Given the description of an element on the screen output the (x, y) to click on. 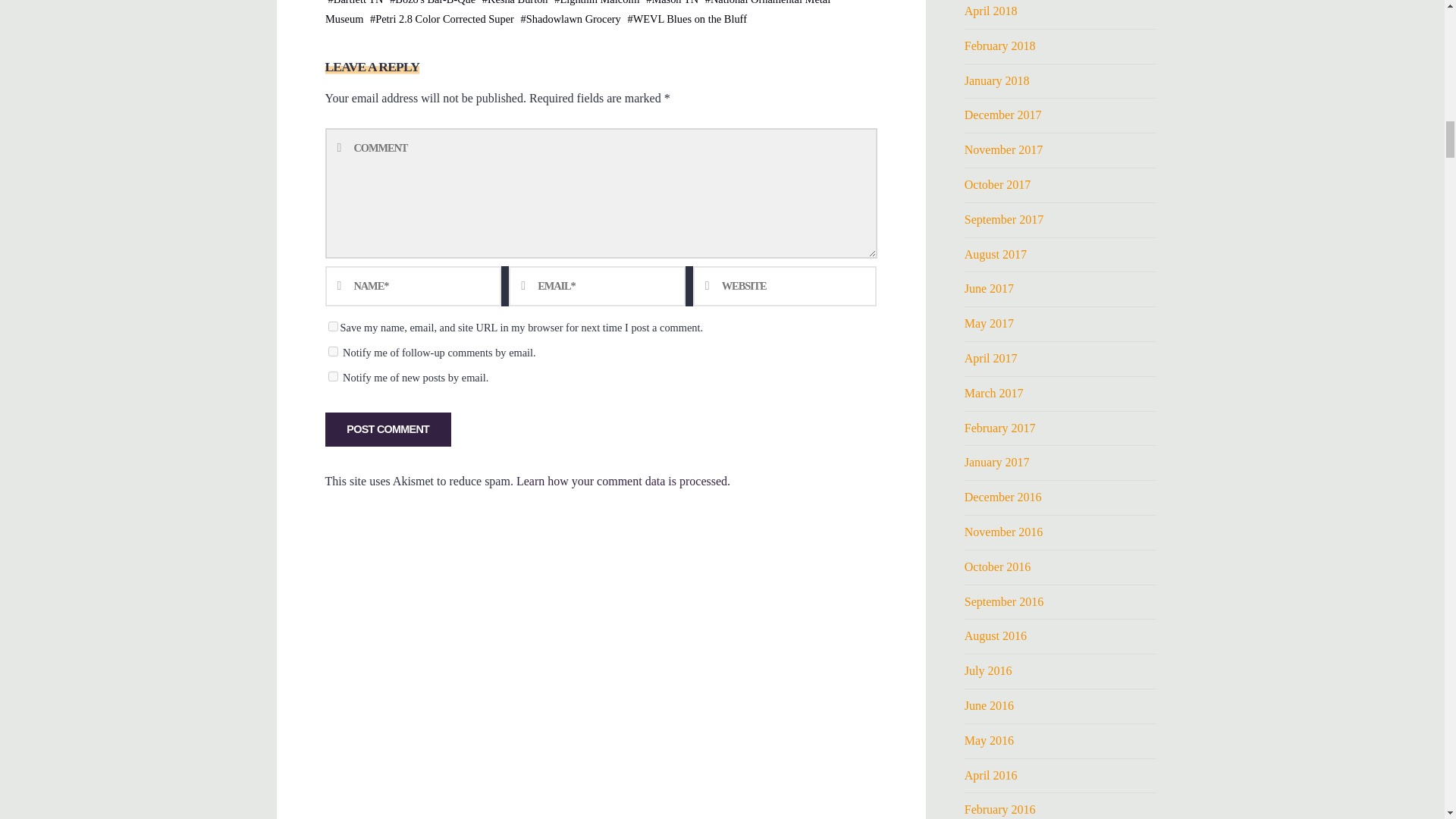
subscribe (332, 351)
yes (332, 326)
Post Comment (386, 429)
subscribe (332, 376)
